Given the description of an element on the screen output the (x, y) to click on. 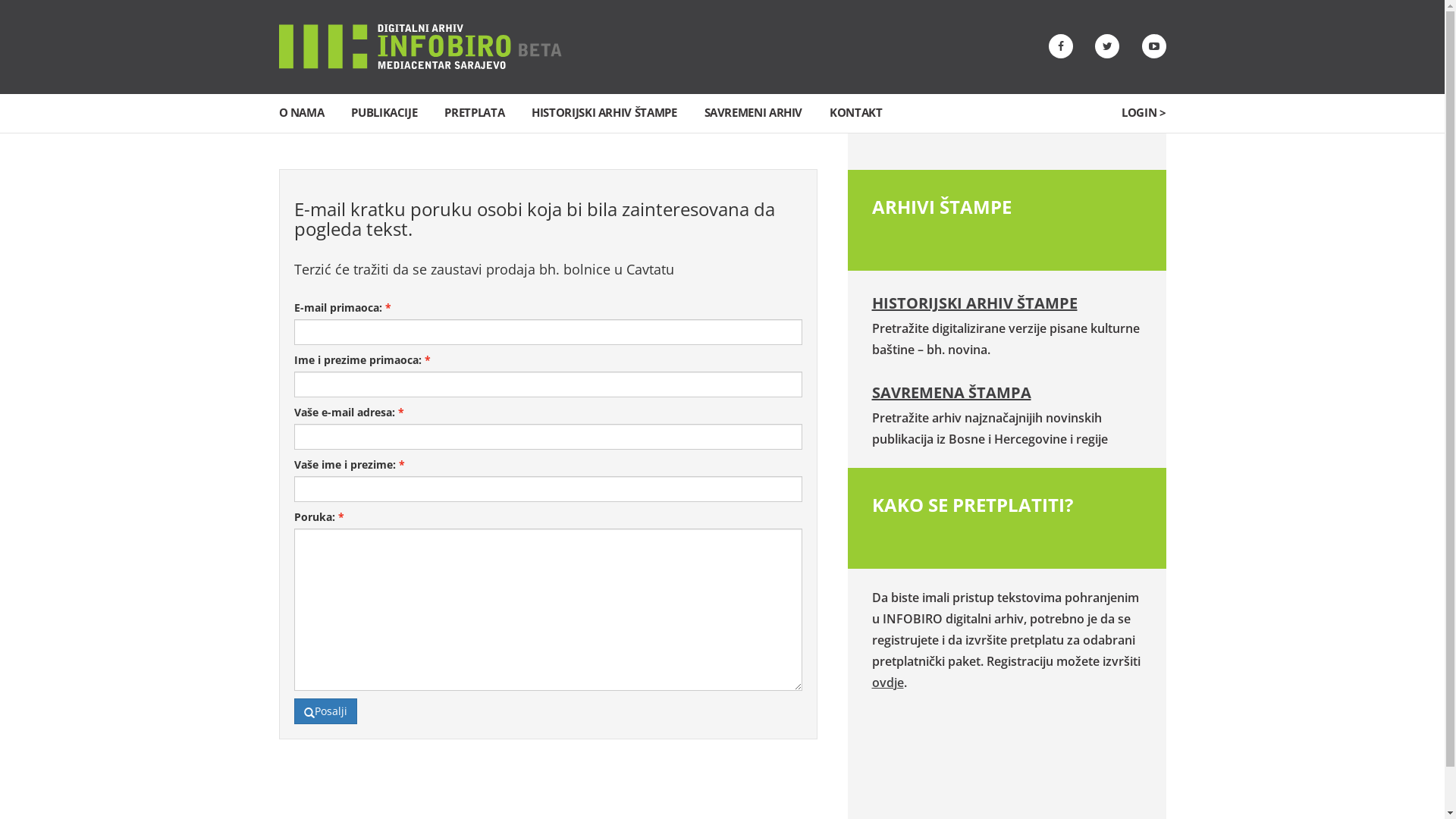
KONTAKT Element type: text (855, 111)
Twitter Element type: hover (1107, 46)
Youtube Element type: hover (1154, 46)
PUBLIKACIJE Element type: text (384, 111)
PRETPLATA Element type: text (474, 111)
SAVREMENI ARHIV Element type: text (753, 111)
Infobiro mediacenter Sarajevo Element type: hover (420, 45)
O NAMA Element type: text (301, 111)
Facebook Element type: hover (1060, 46)
Posalji Element type: text (325, 711)
LOGIN > Element type: text (1143, 111)
ovdje Element type: text (887, 682)
